Given the description of an element on the screen output the (x, y) to click on. 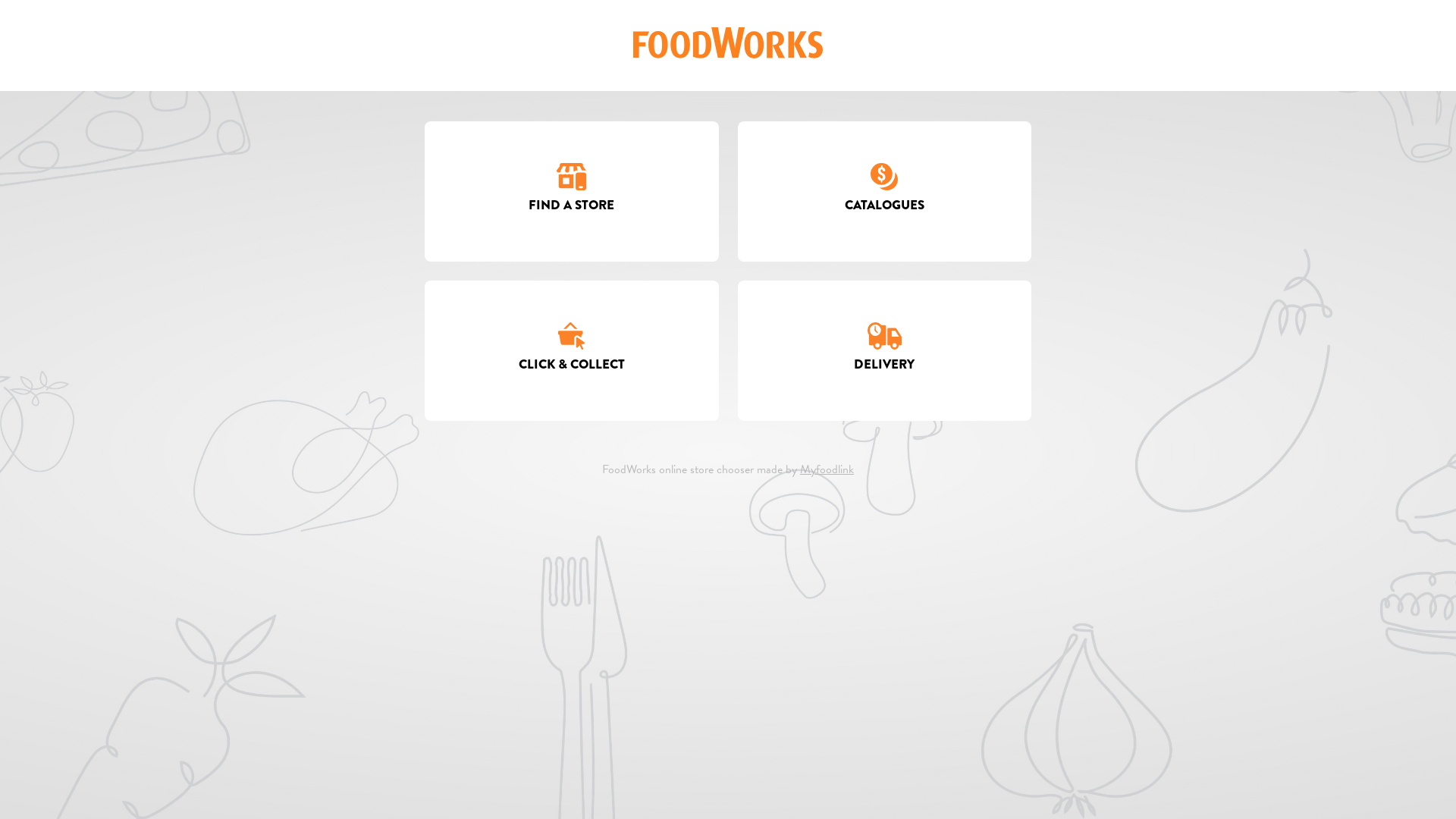
Myfoodlink Element type: text (826, 469)
CATALOGUES Element type: text (884, 191)
CLICK & COLLECT Element type: text (571, 350)
DELIVERY Element type: text (884, 350)
FIND A STORE Element type: text (571, 191)
